Given the description of an element on the screen output the (x, y) to click on. 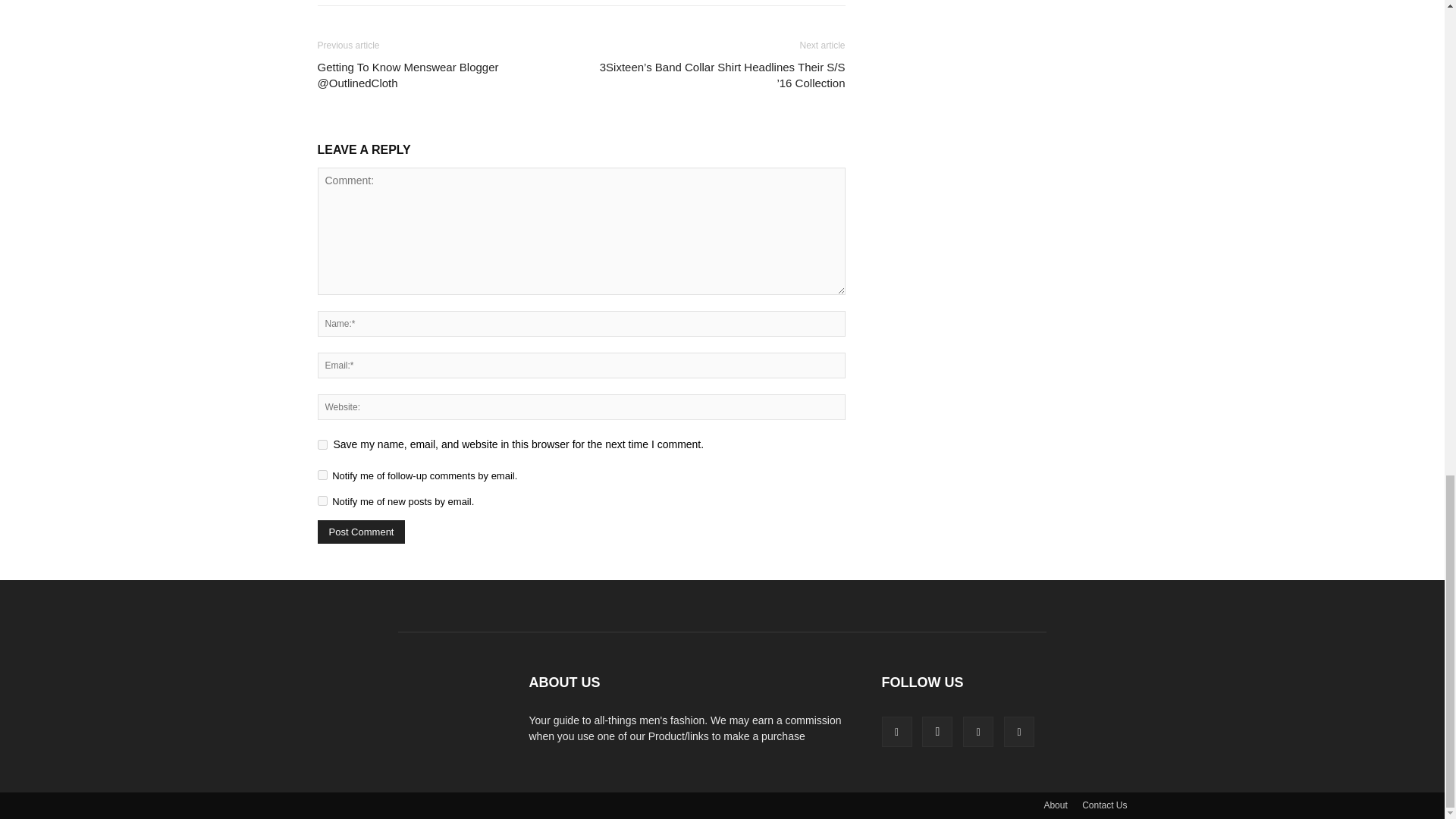
subscribe (321, 501)
yes (321, 444)
subscribe (321, 474)
Post Comment (360, 531)
